Given the description of an element on the screen output the (x, y) to click on. 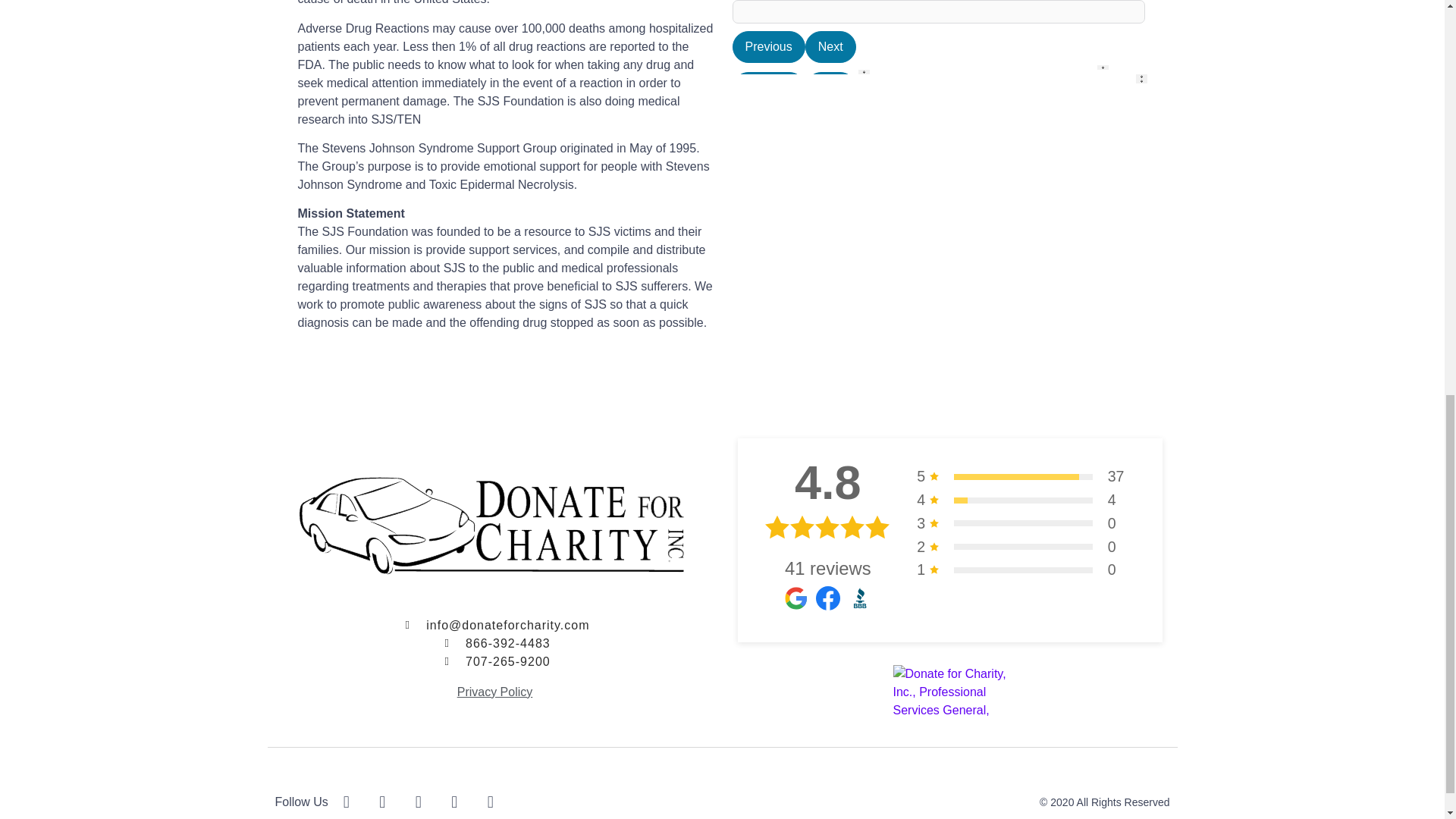
Previous (768, 47)
Previous (768, 213)
instagram (463, 801)
Previous (768, 359)
linkedin (499, 801)
Business (815, 94)
Next (830, 359)
Previous (768, 88)
Previous (768, 622)
facebook (355, 801)
